Given the description of an element on the screen output the (x, y) to click on. 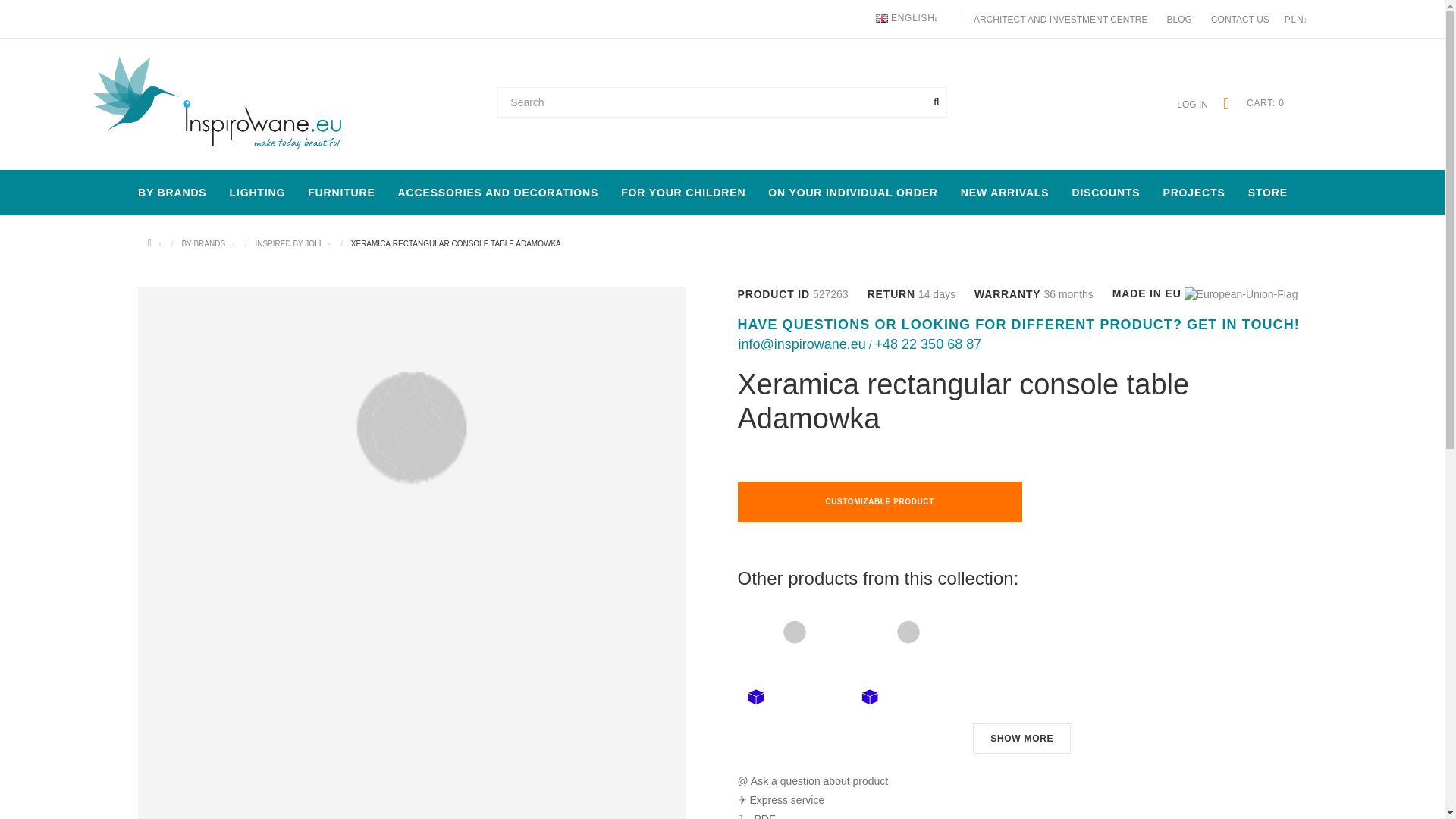
LOG IN (1192, 104)
ARCHITECT AND INVESTMENT CENTRE (1061, 19)
BY BRANDS (172, 192)
CART: 0 (1264, 103)
Inspirowane.eu (213, 103)
Place an order (1264, 103)
CONTACT US (1240, 19)
BLOG (1179, 19)
